Given the description of an element on the screen output the (x, y) to click on. 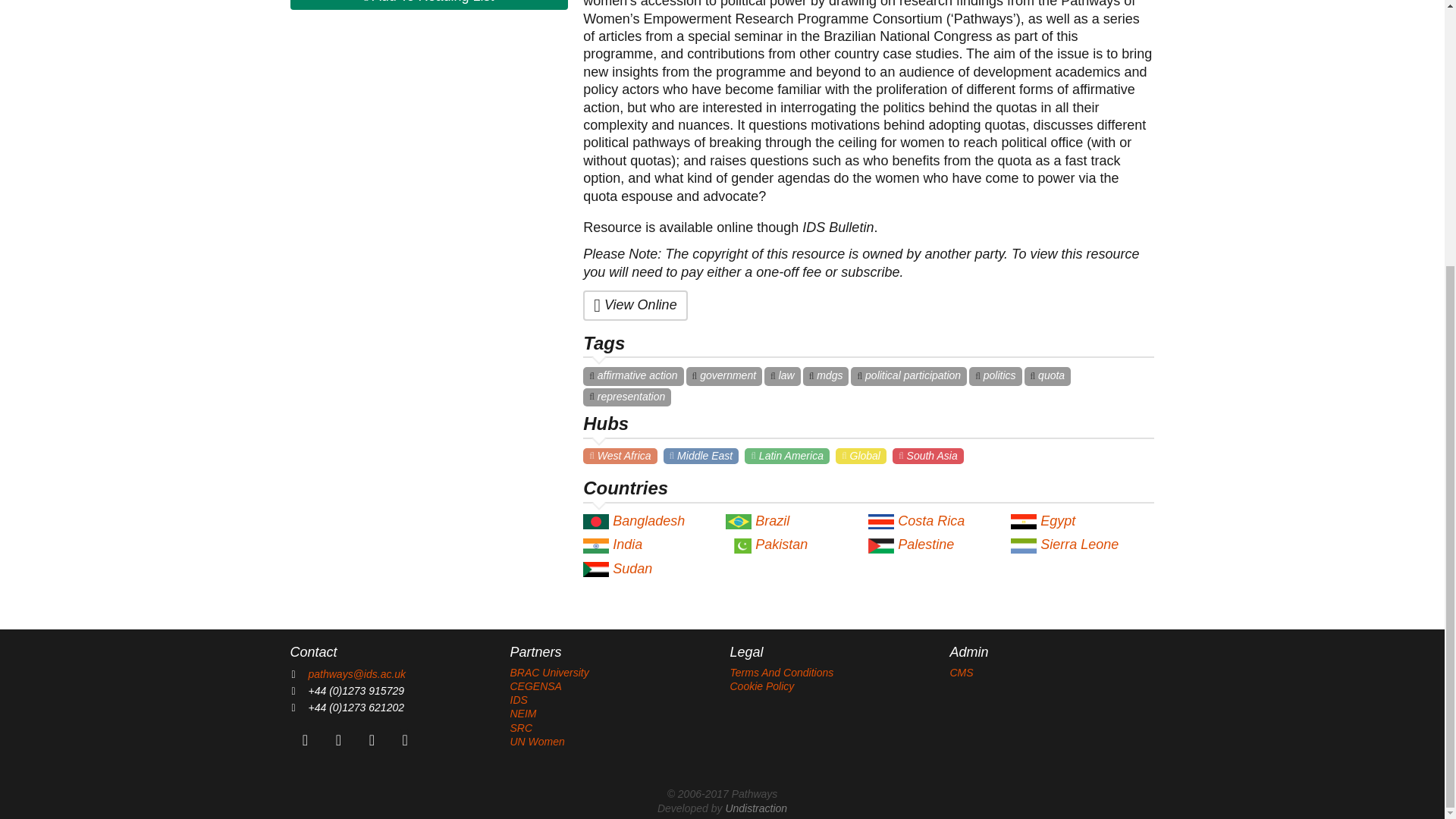
government (723, 375)
affirmative action (632, 375)
Add To Reading List (428, 4)
View Online (635, 305)
